Given the description of an element on the screen output the (x, y) to click on. 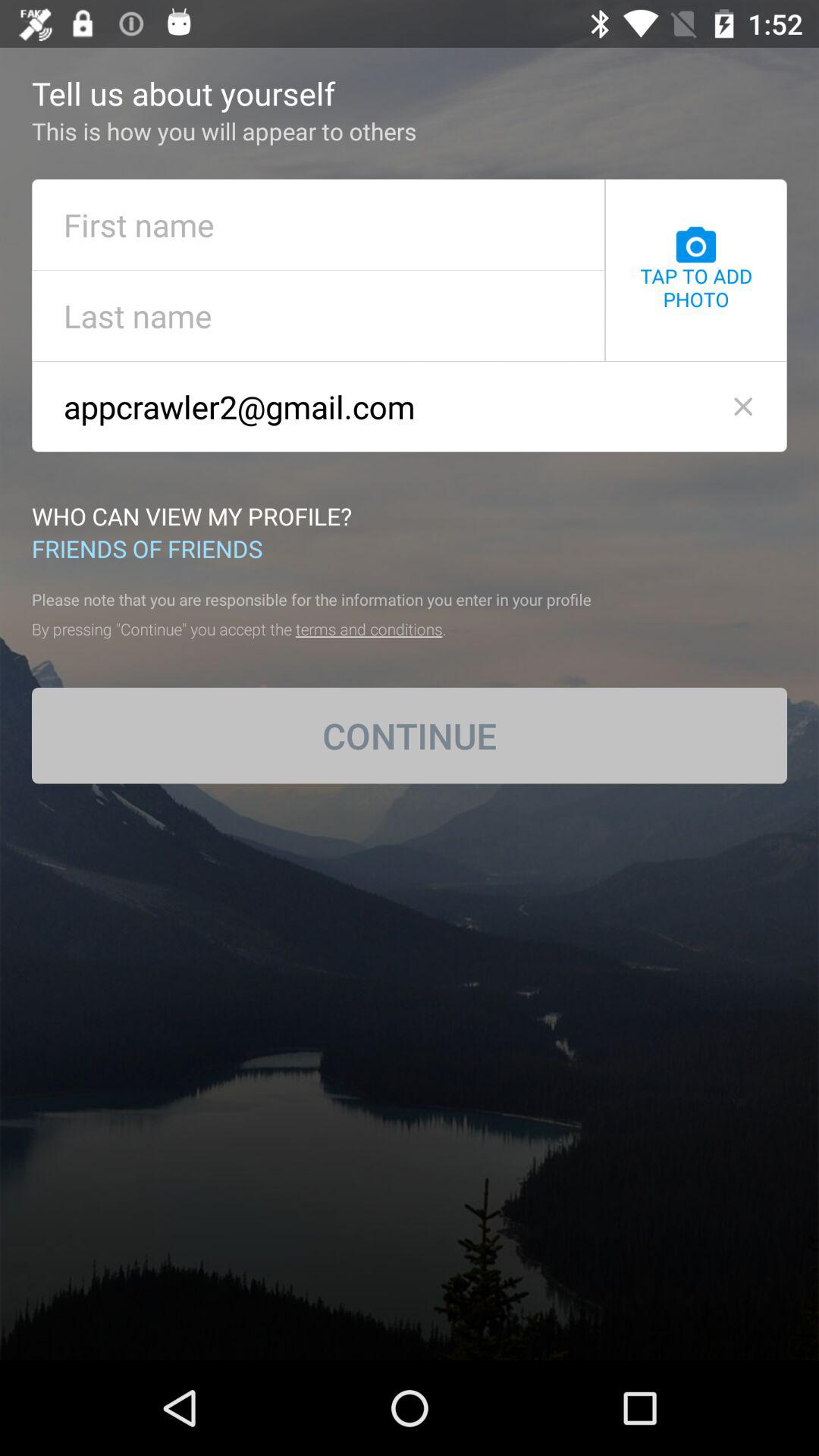
putton page (318, 315)
